Given the description of an element on the screen output the (x, y) to click on. 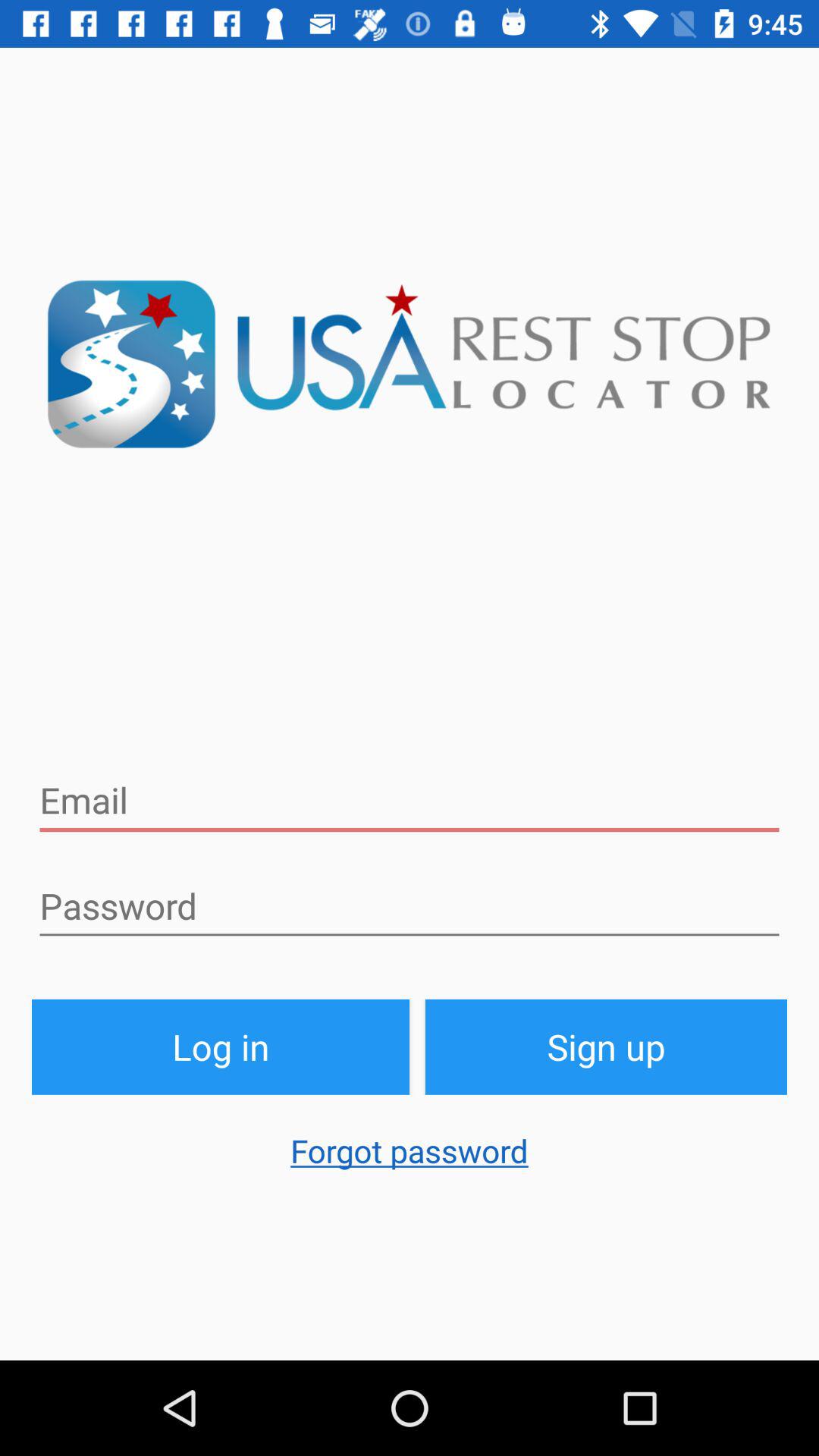
select item to the left of the sign up (220, 1046)
